Given the description of an element on the screen output the (x, y) to click on. 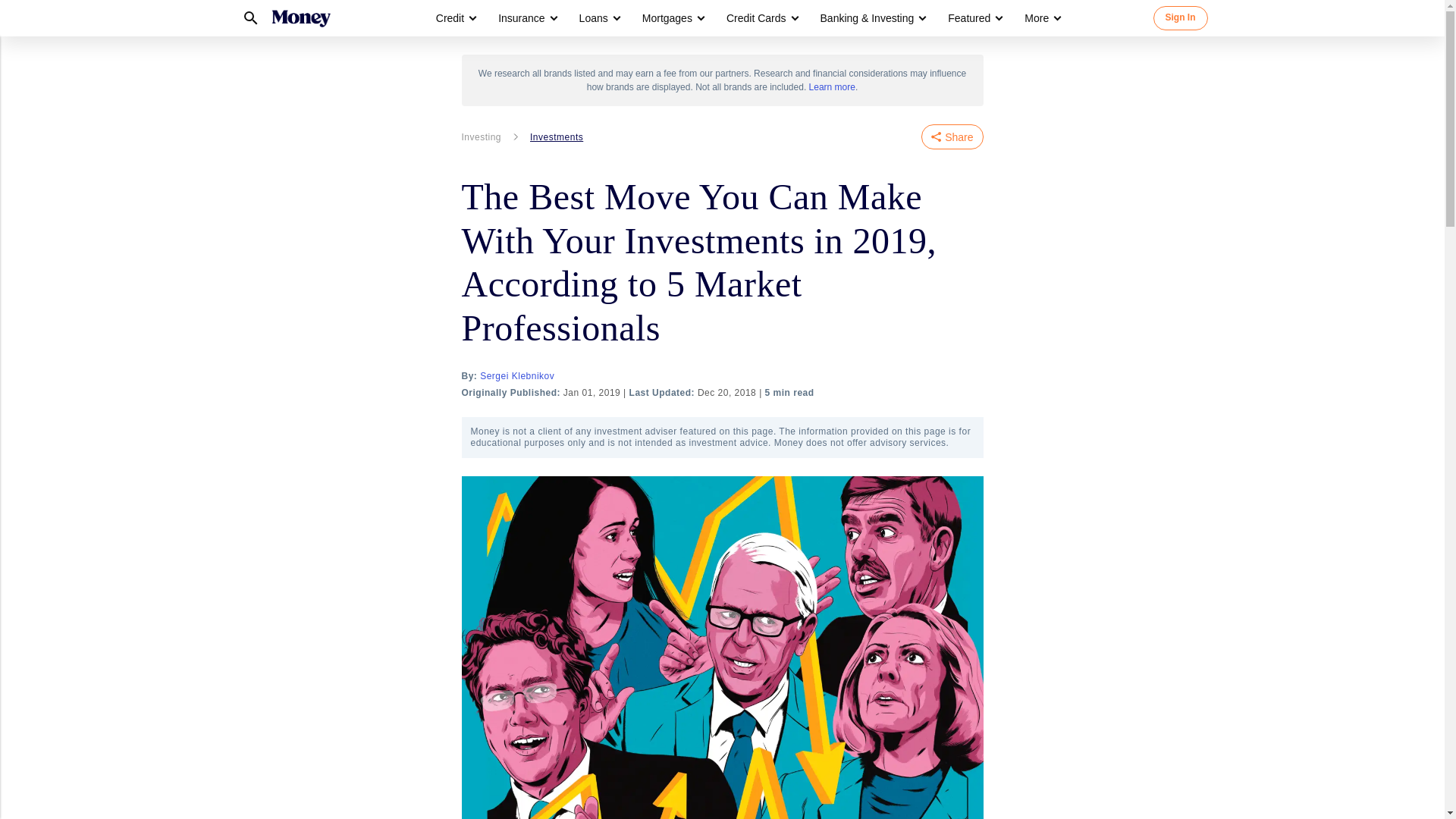
Insurance (526, 18)
Credit Cards (756, 18)
Credit (455, 18)
Insurance (520, 18)
Credit (449, 18)
Credit Cards (761, 18)
Mortgages (667, 18)
Loans (593, 18)
Loans (598, 18)
Mortgages (672, 18)
